Given the description of an element on the screen output the (x, y) to click on. 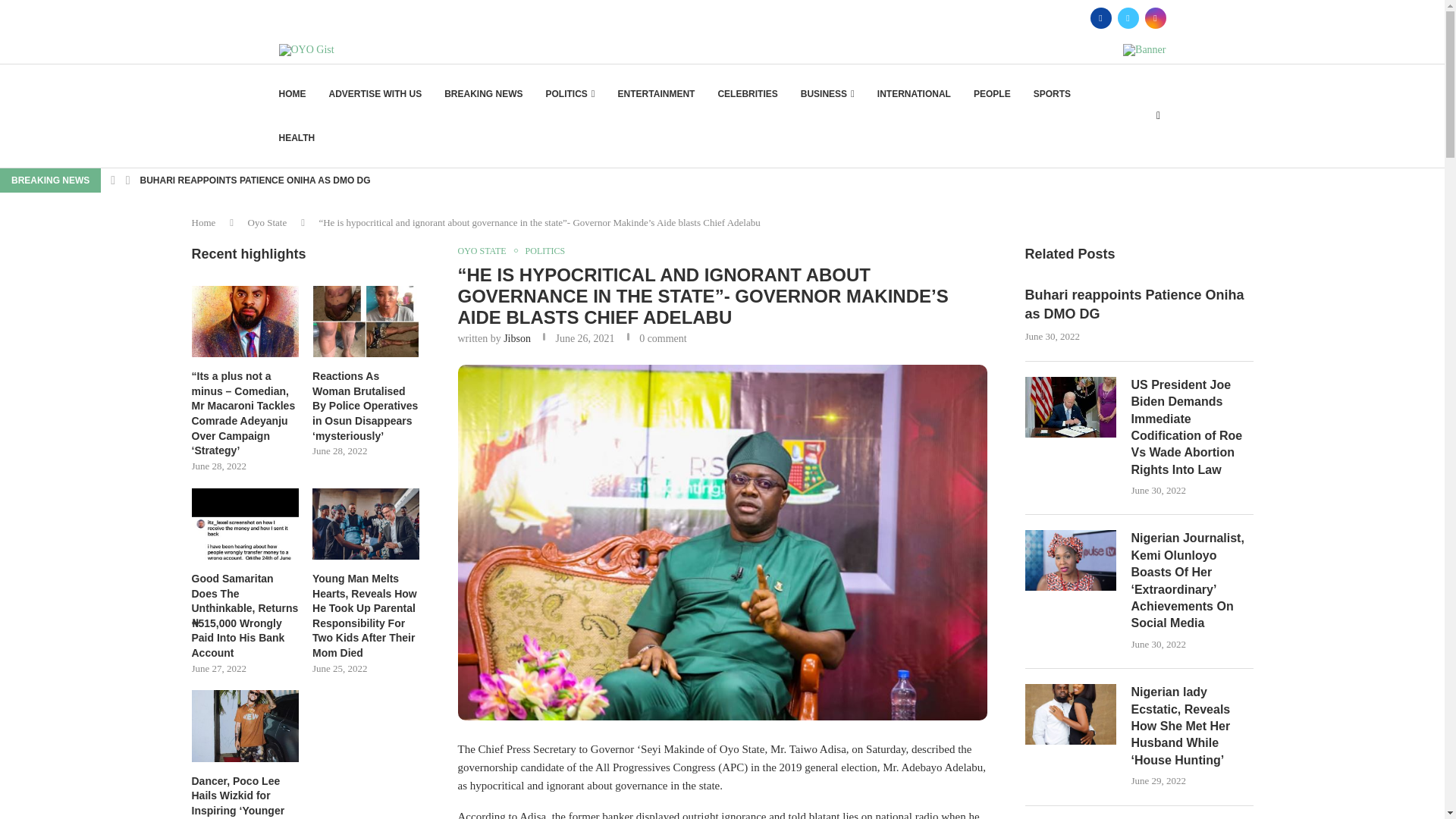
BUSINESS (827, 94)
POLITICS (570, 94)
ENTERTAINMENT (656, 94)
INTERNATIONAL (913, 94)
CELEBRITIES (747, 94)
Buhari reappoints Patience Oniha as DMO DG (1139, 304)
BREAKING NEWS (483, 94)
ADVERTISE WITH US (375, 94)
